Given the description of an element on the screen output the (x, y) to click on. 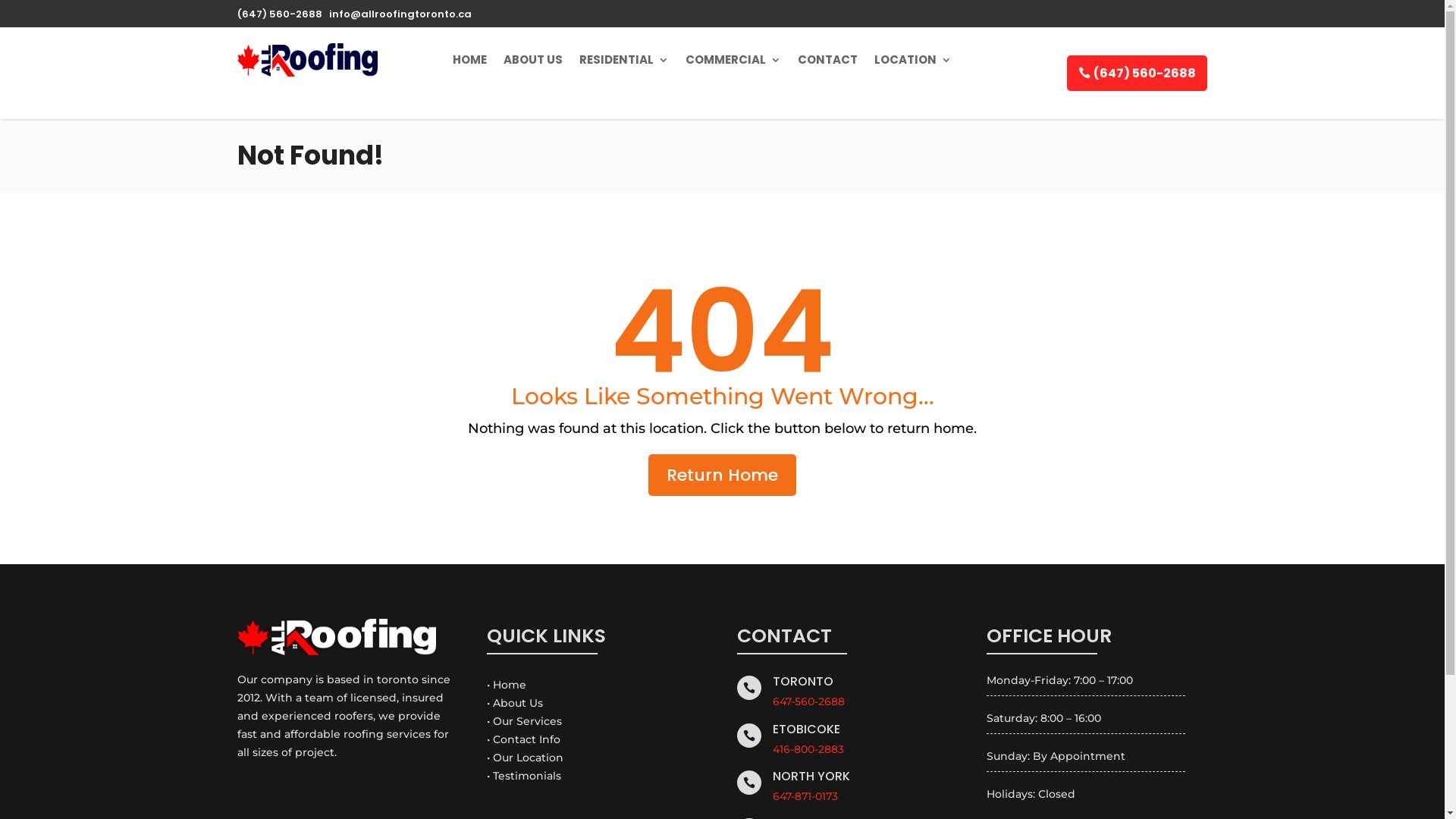
info@allroofingtoronto.ca Element type: text (400, 13)
416-800-2883 Element type: text (808, 749)
647-871-0173 Element type: text (804, 796)
COMMERCIAL Element type: text (733, 59)
Return Home Element type: text (722, 474)
All Roofing Logo - white - shadow Element type: hover (335, 636)
(647) 560-2688 Element type: text (278, 13)
(647) 560-2688 Element type: text (1136, 73)
ABOUT US Element type: text (532, 59)
CONTACT Element type: text (827, 59)
647-560-2688 Element type: text (808, 701)
HOME Element type: text (469, 59)
LOCATION Element type: text (912, 59)
RESIDENTIAL Element type: text (623, 59)
